Given the description of an element on the screen output the (x, y) to click on. 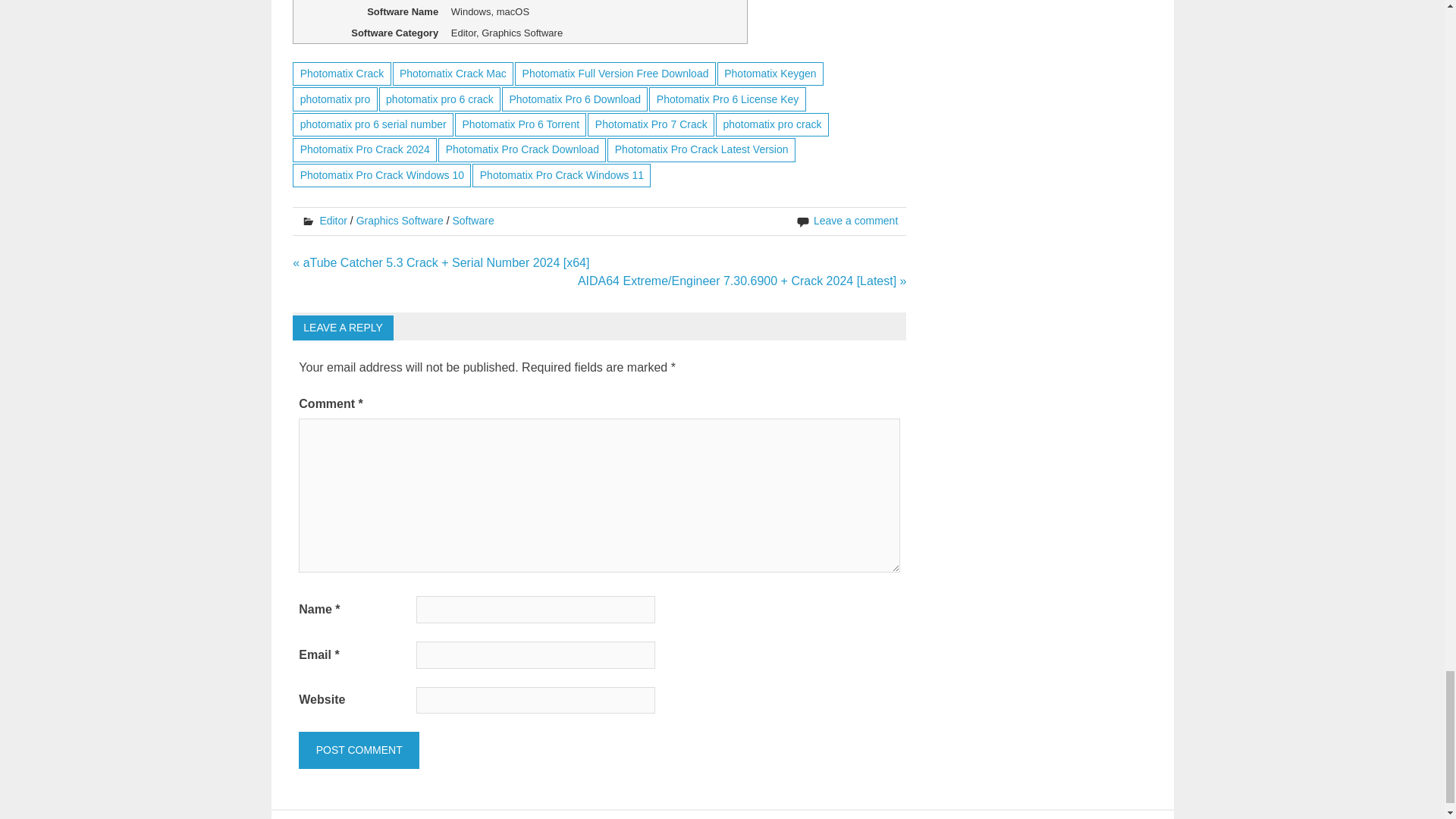
Post Comment (358, 750)
